Given the description of an element on the screen output the (x, y) to click on. 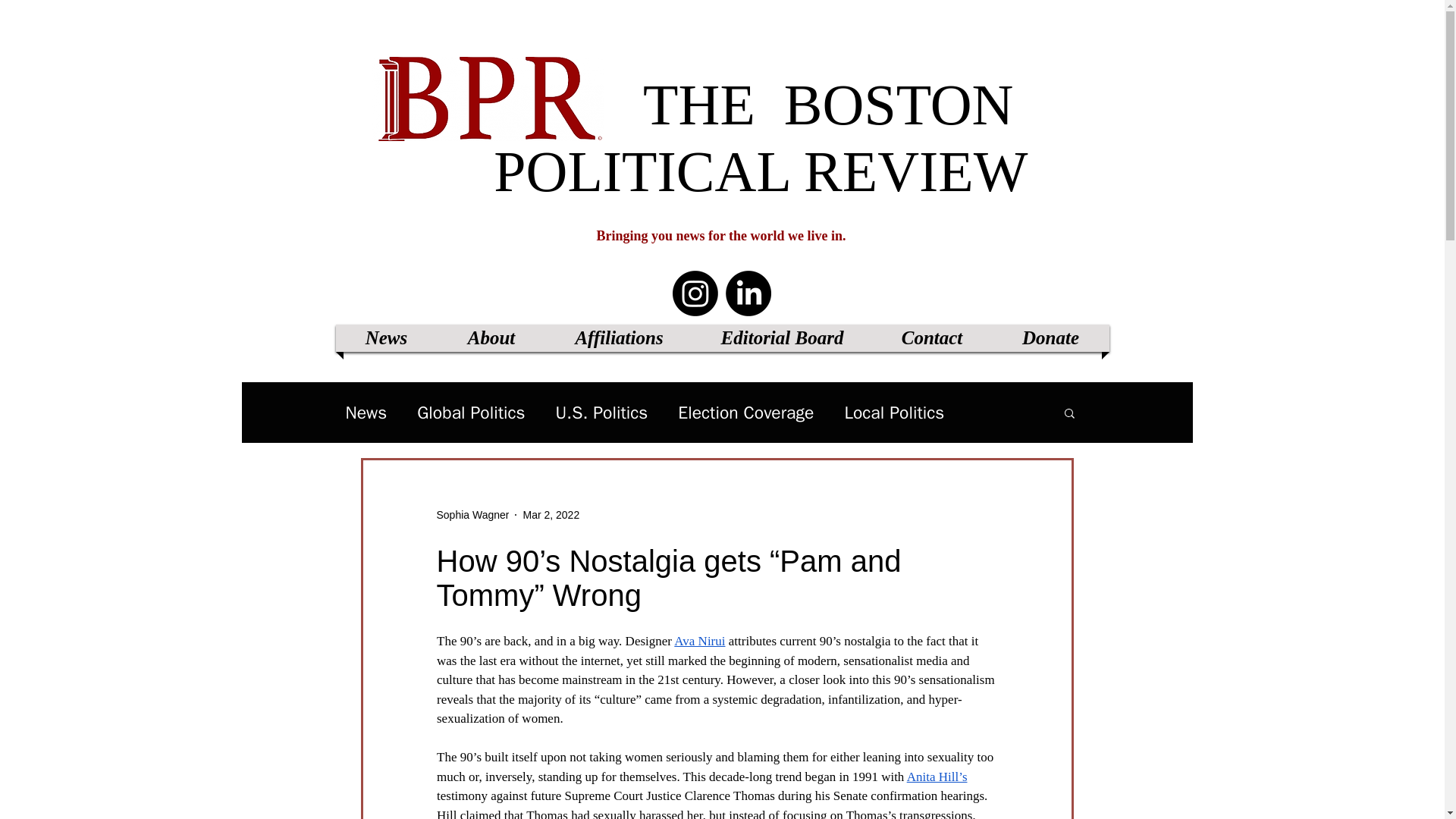
Sophia Wagner (472, 514)
U.S. Politics (601, 412)
Contact (931, 338)
Affiliations (618, 338)
Election Coverage (745, 412)
News (386, 338)
Donate (1050, 338)
Editorial Board (781, 338)
Local Politics (893, 412)
News (366, 412)
Ava Nirui (699, 640)
About (491, 338)
Global Politics (470, 412)
Mar 2, 2022 (550, 513)
cropped-bpr-copyright-01-11.png (487, 98)
